Given the description of an element on the screen output the (x, y) to click on. 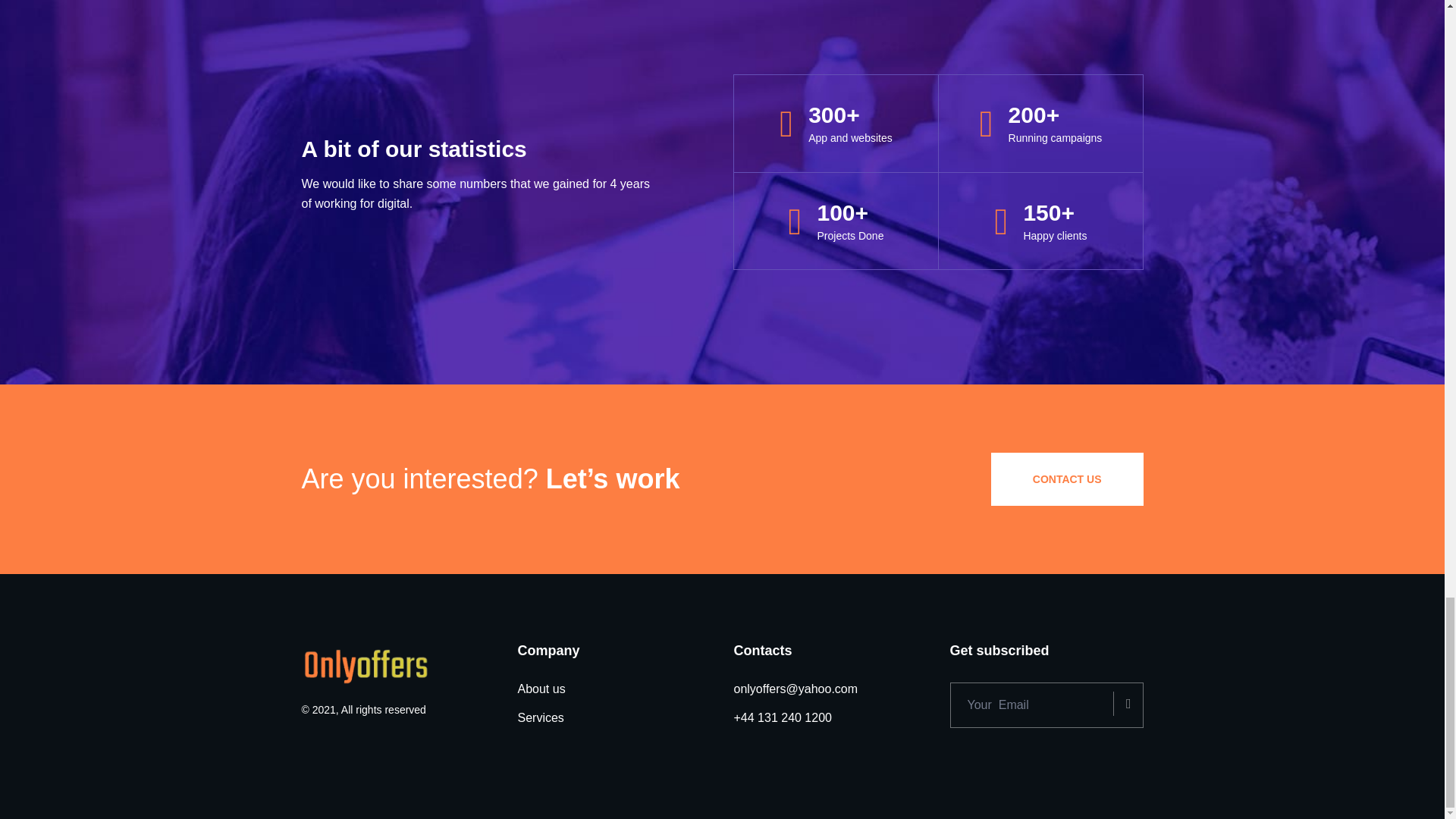
CONTACT US (1066, 479)
About us (540, 688)
Services (539, 715)
